Given the description of an element on the screen output the (x, y) to click on. 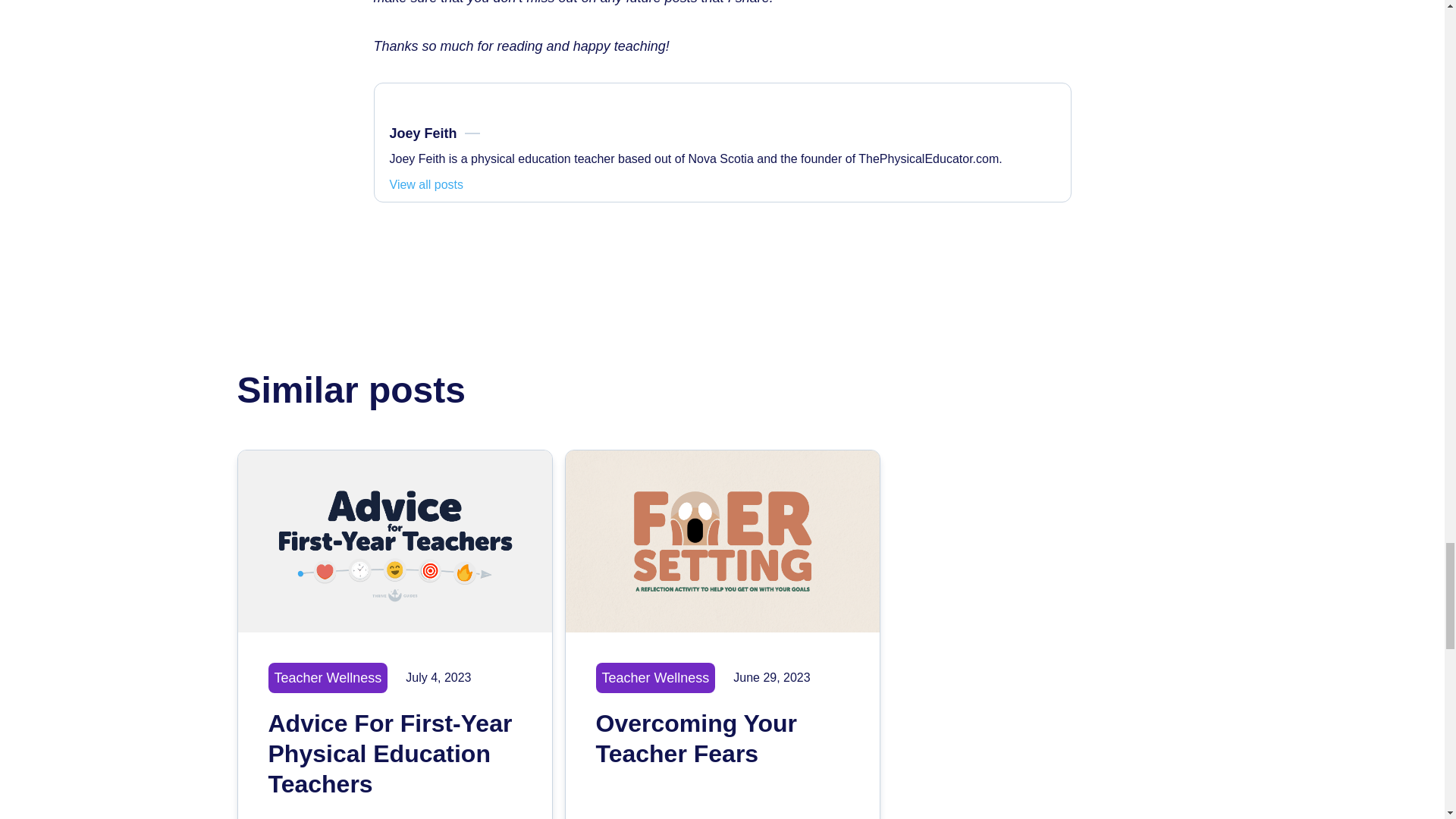
View all posts (721, 719)
